Given the description of an element on the screen output the (x, y) to click on. 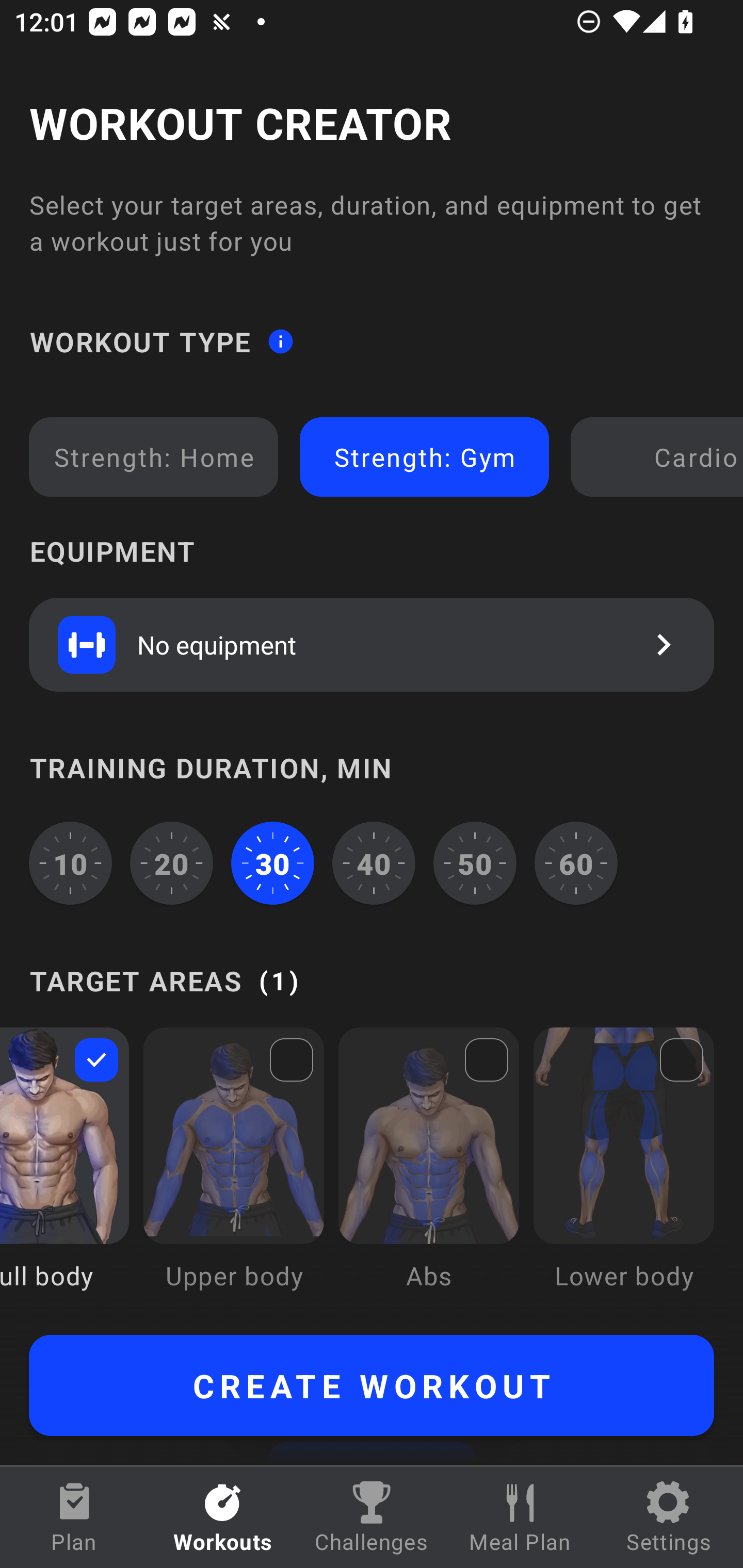
Workout type information button (280, 340)
Strength: Home (153, 457)
Cardio (660, 457)
No equipment (371, 644)
10 (70, 863)
20 (171, 863)
30 (272, 863)
40 (373, 863)
50 (474, 863)
60 (575, 863)
Upper body (233, 1172)
Abs (428, 1172)
Lower body (623, 1172)
CREATE WORKOUT (371, 1385)
 Plan  (74, 1517)
 Challenges  (371, 1517)
 Meal Plan  (519, 1517)
 Settings  (668, 1517)
